Given the description of an element on the screen output the (x, y) to click on. 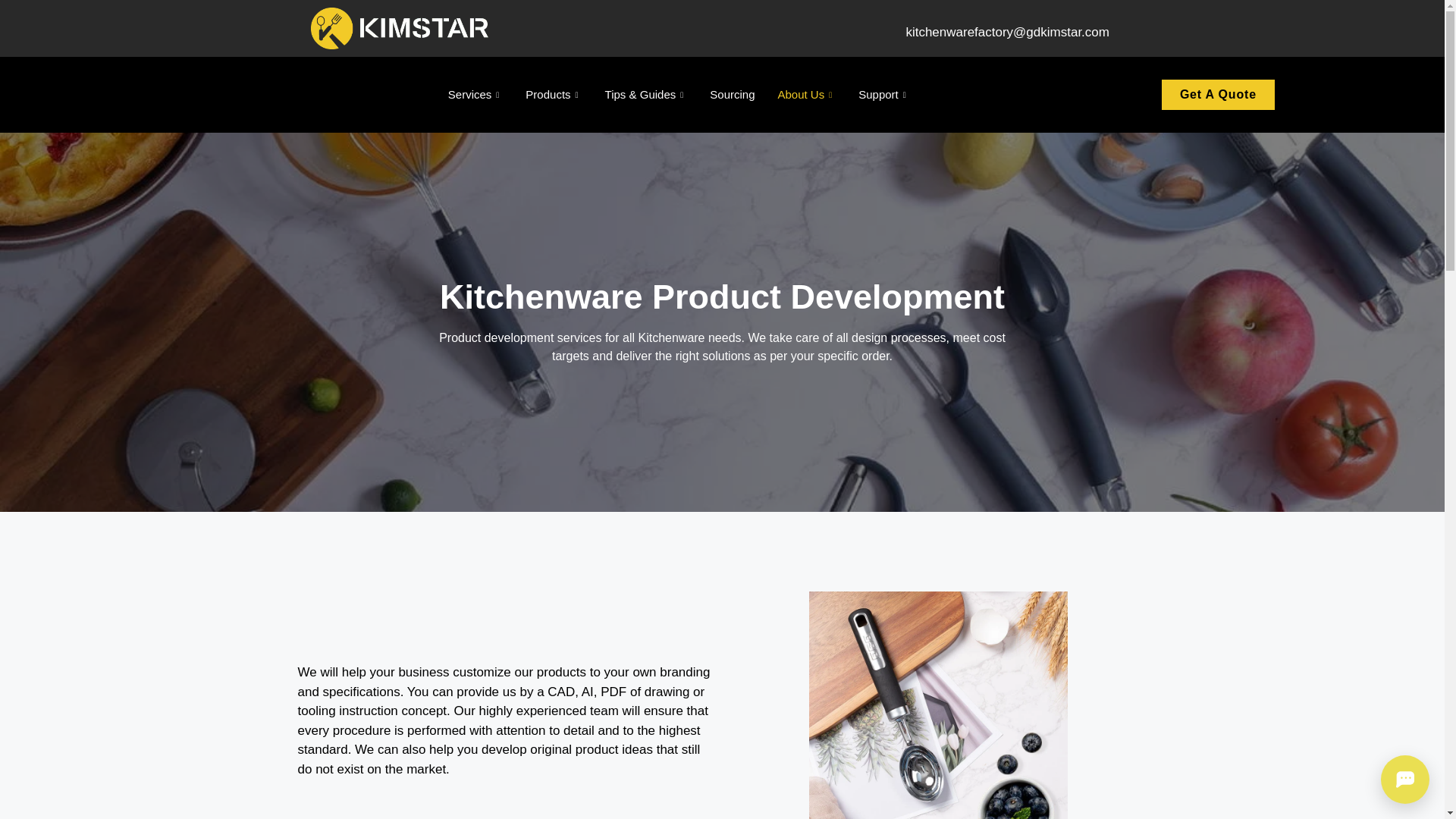
Open chat window (1404, 779)
Products (552, 94)
Services (475, 94)
